Given the description of an element on the screen output the (x, y) to click on. 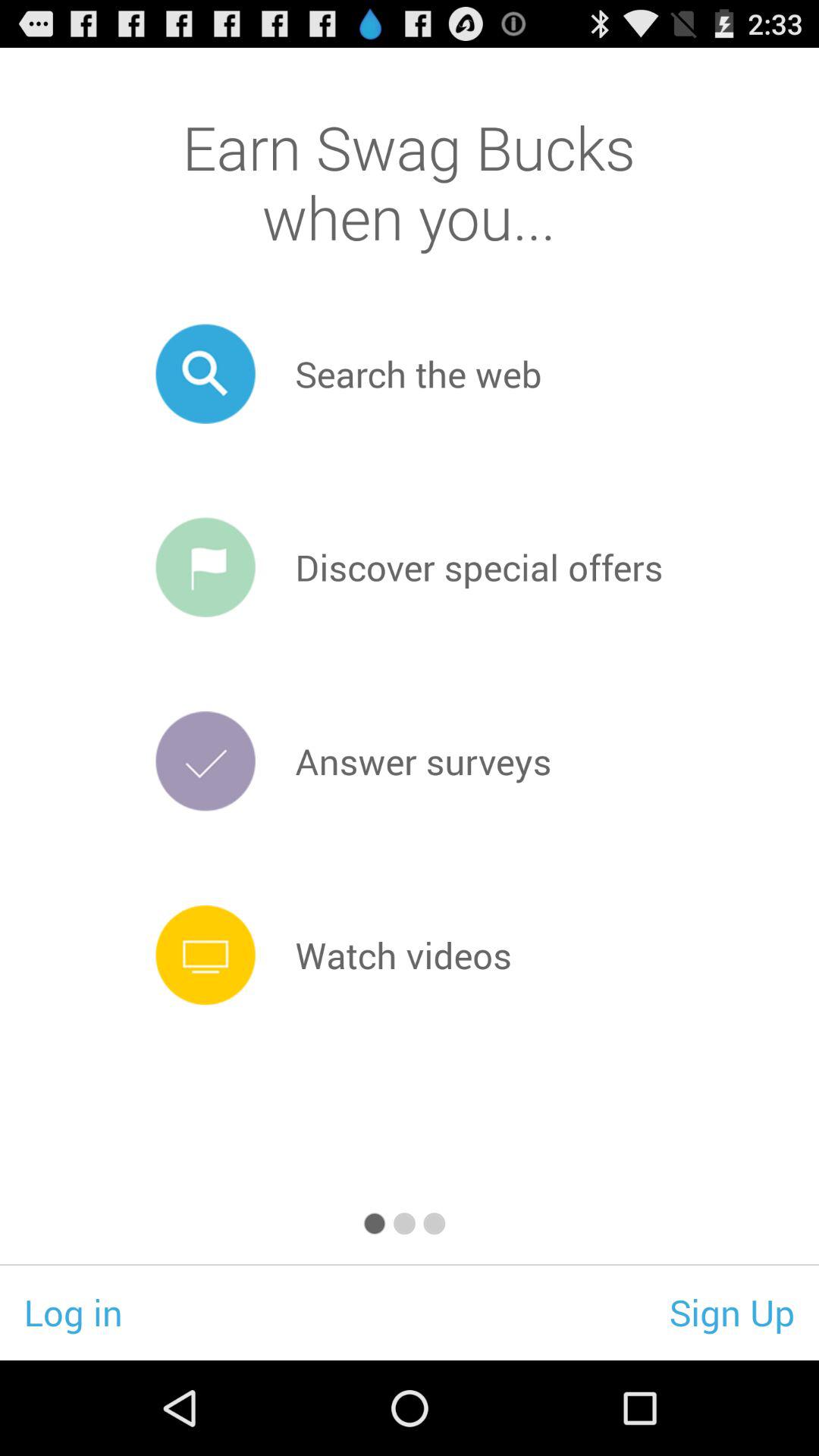
select the app at the bottom right corner (732, 1312)
